Given the description of an element on the screen output the (x, y) to click on. 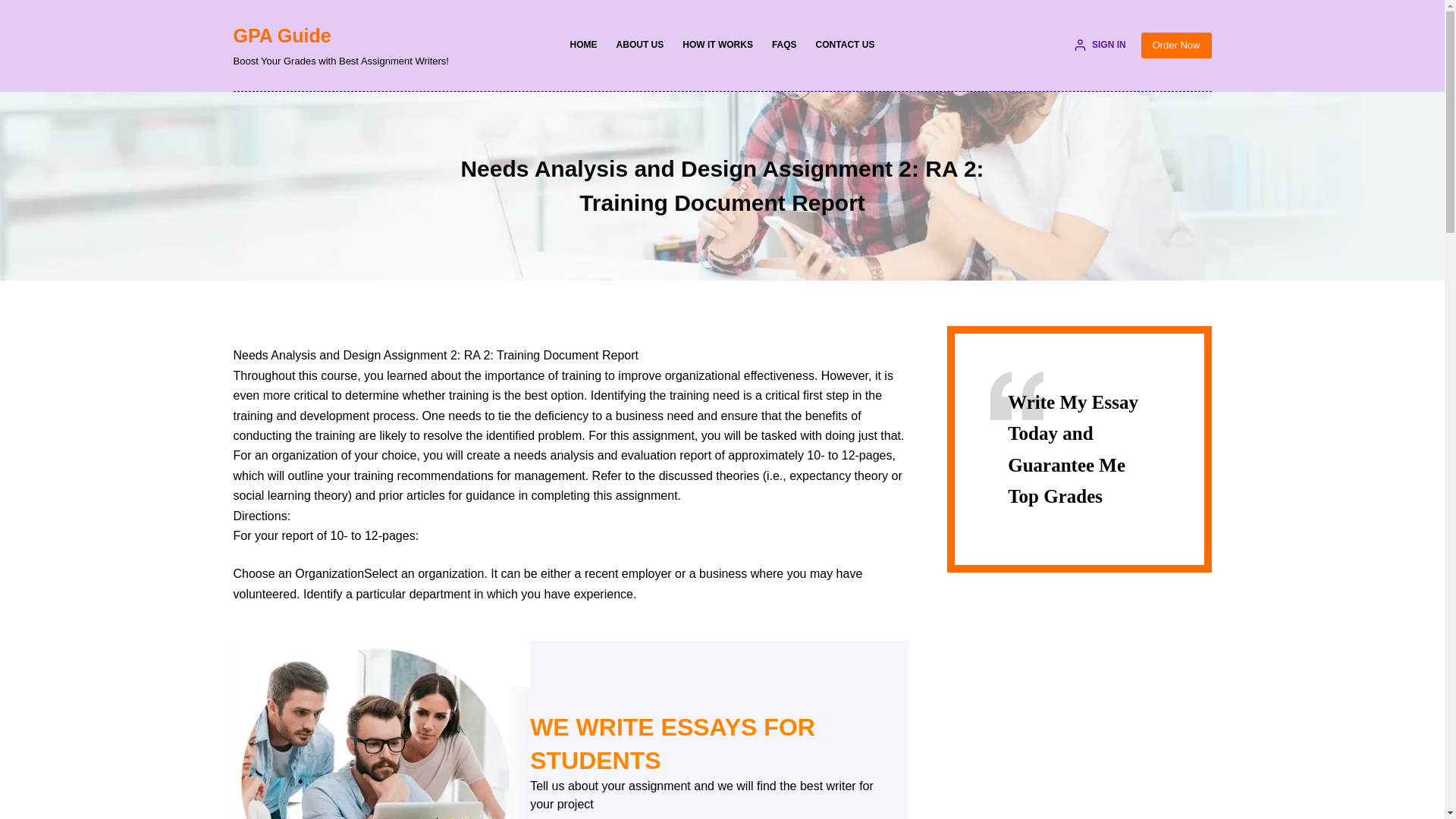
HOW IT WORKS (717, 45)
SIGN IN (1099, 45)
GPA Guide (281, 35)
Order Now (1176, 45)
Skip to content (15, 7)
